Given the description of an element on the screen output the (x, y) to click on. 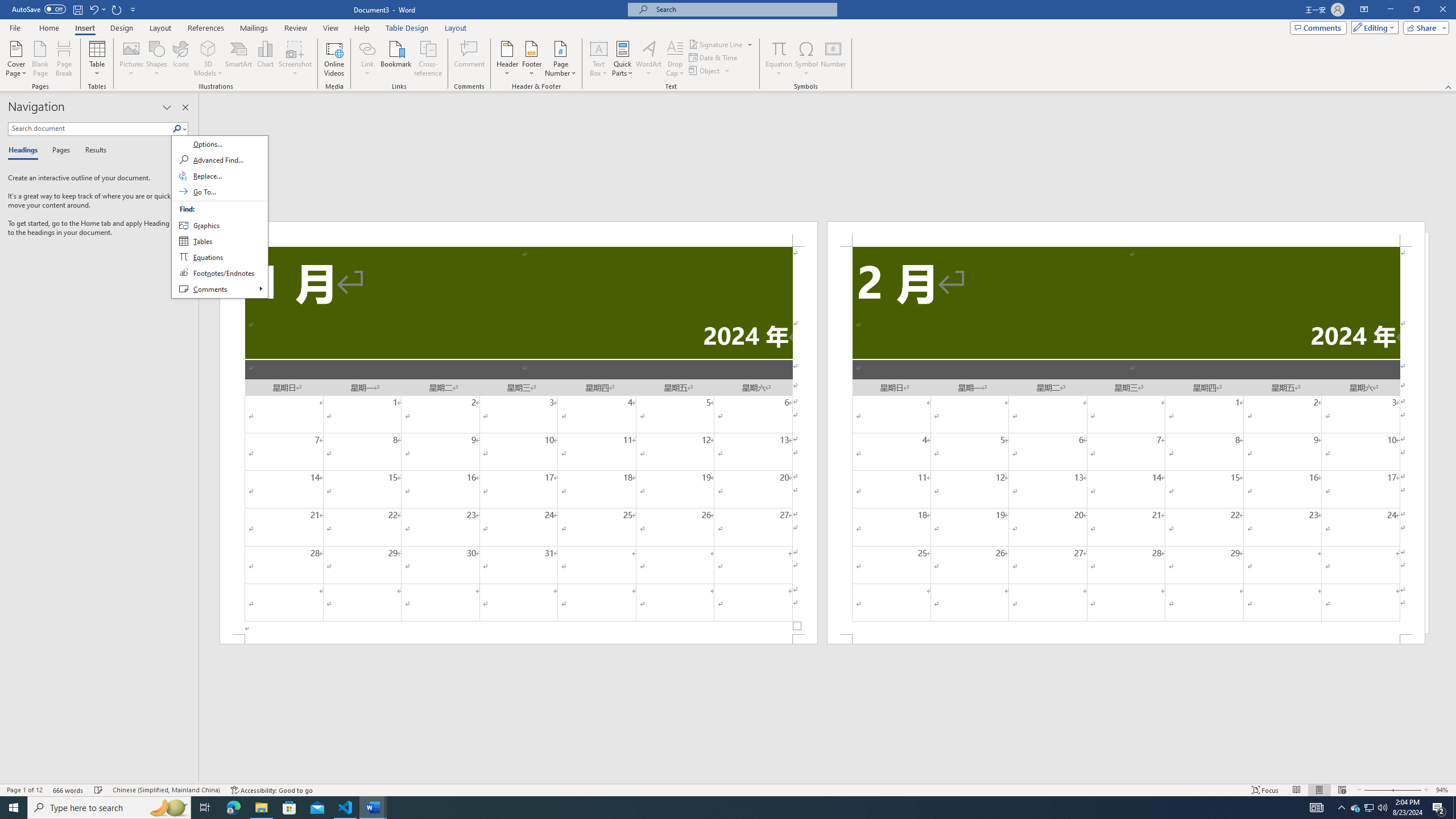
Date & Time... (714, 56)
Header (507, 58)
Microsoft Edge (233, 807)
3D Models (208, 48)
Bookmark... (396, 58)
